Given the description of an element on the screen output the (x, y) to click on. 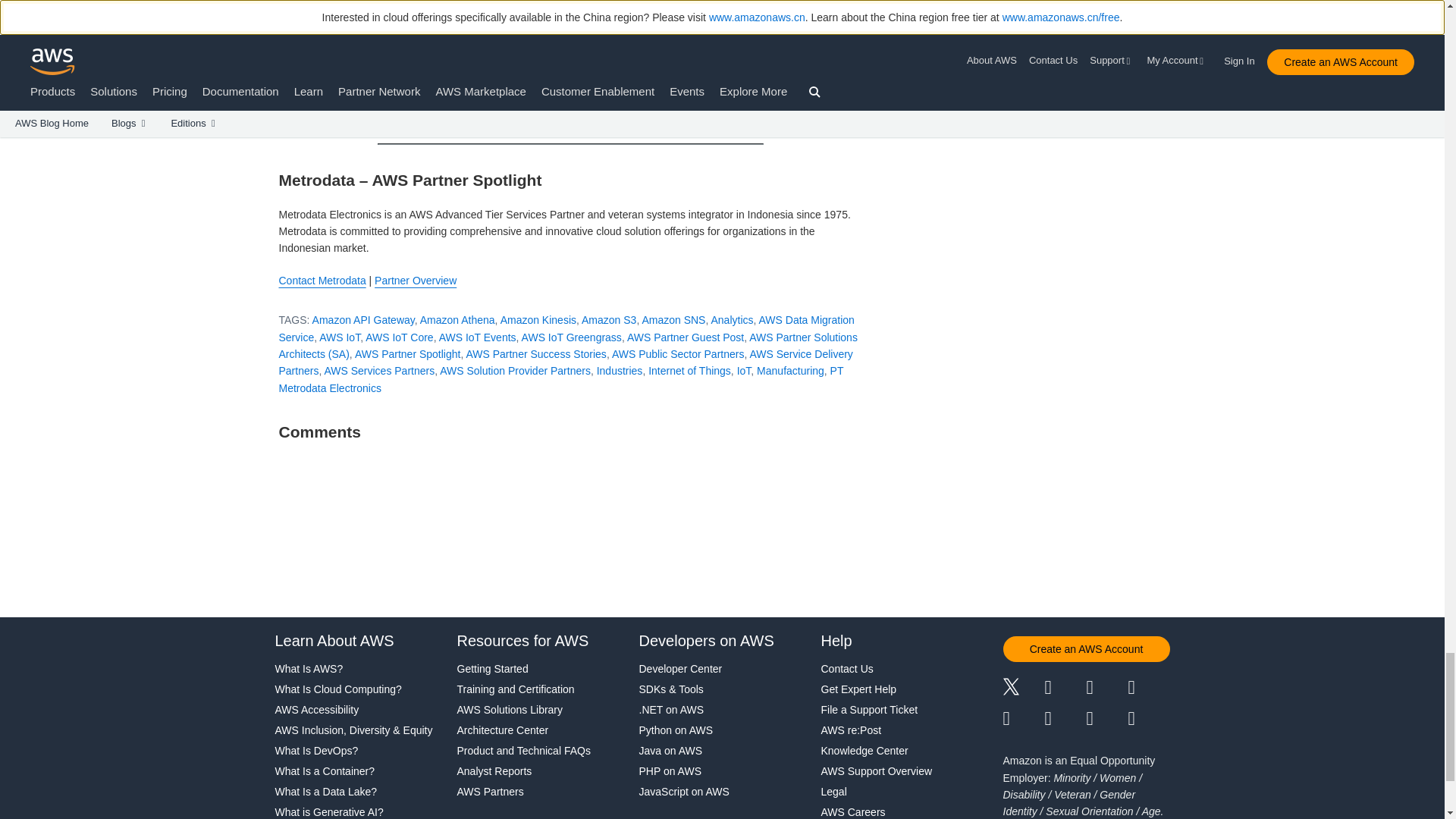
Twitter (1023, 689)
Facebook (1065, 689)
Instagram (1149, 689)
Twitch (1023, 718)
Linkedin (1106, 689)
